Given the description of an element on the screen output the (x, y) to click on. 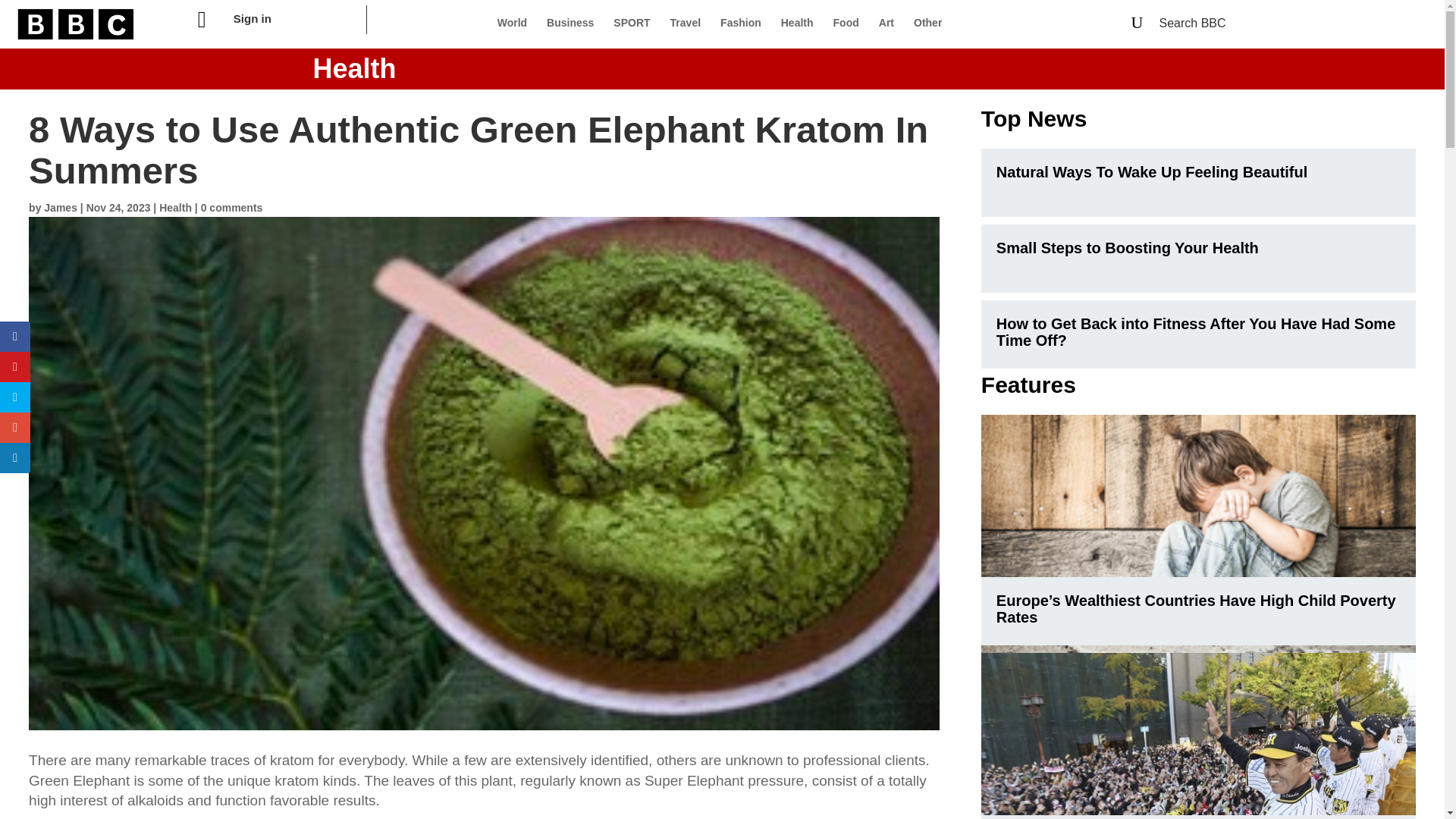
B (75, 23)
Travel (684, 22)
Business (569, 22)
SPORT (630, 22)
World (512, 22)
Food (845, 22)
Other (927, 22)
Fashion (740, 22)
Posts by James (60, 207)
Health (796, 22)
